Given the description of an element on the screen output the (x, y) to click on. 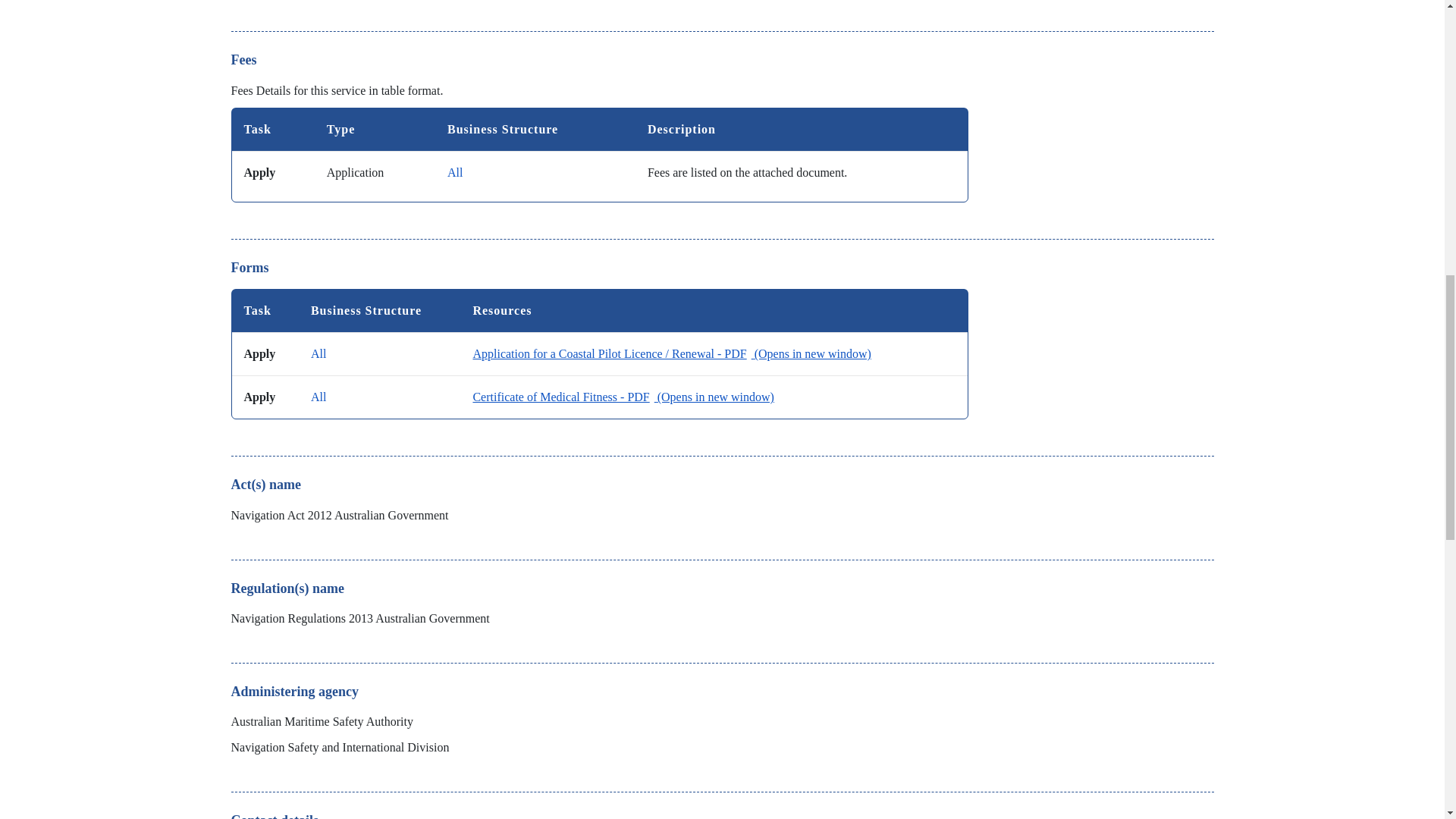
All (318, 396)
Fees for this service (599, 154)
Resources for this service (622, 396)
All (318, 353)
All (454, 172)
Form resources for this service (599, 354)
Resources for this service (670, 353)
